Given the description of an element on the screen output the (x, y) to click on. 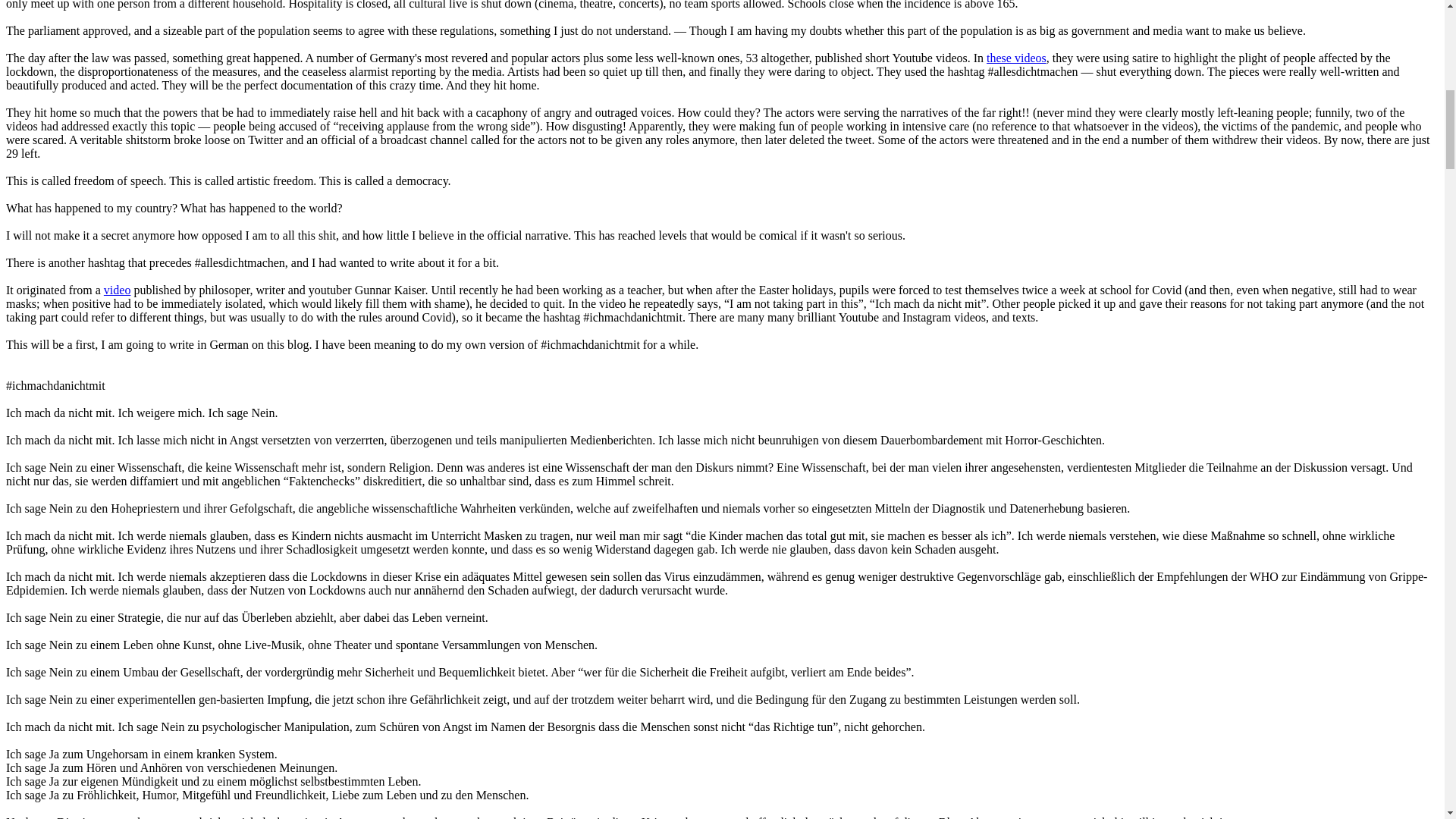
these videos (1016, 57)
video (117, 289)
